Given the description of an element on the screen output the (x, y) to click on. 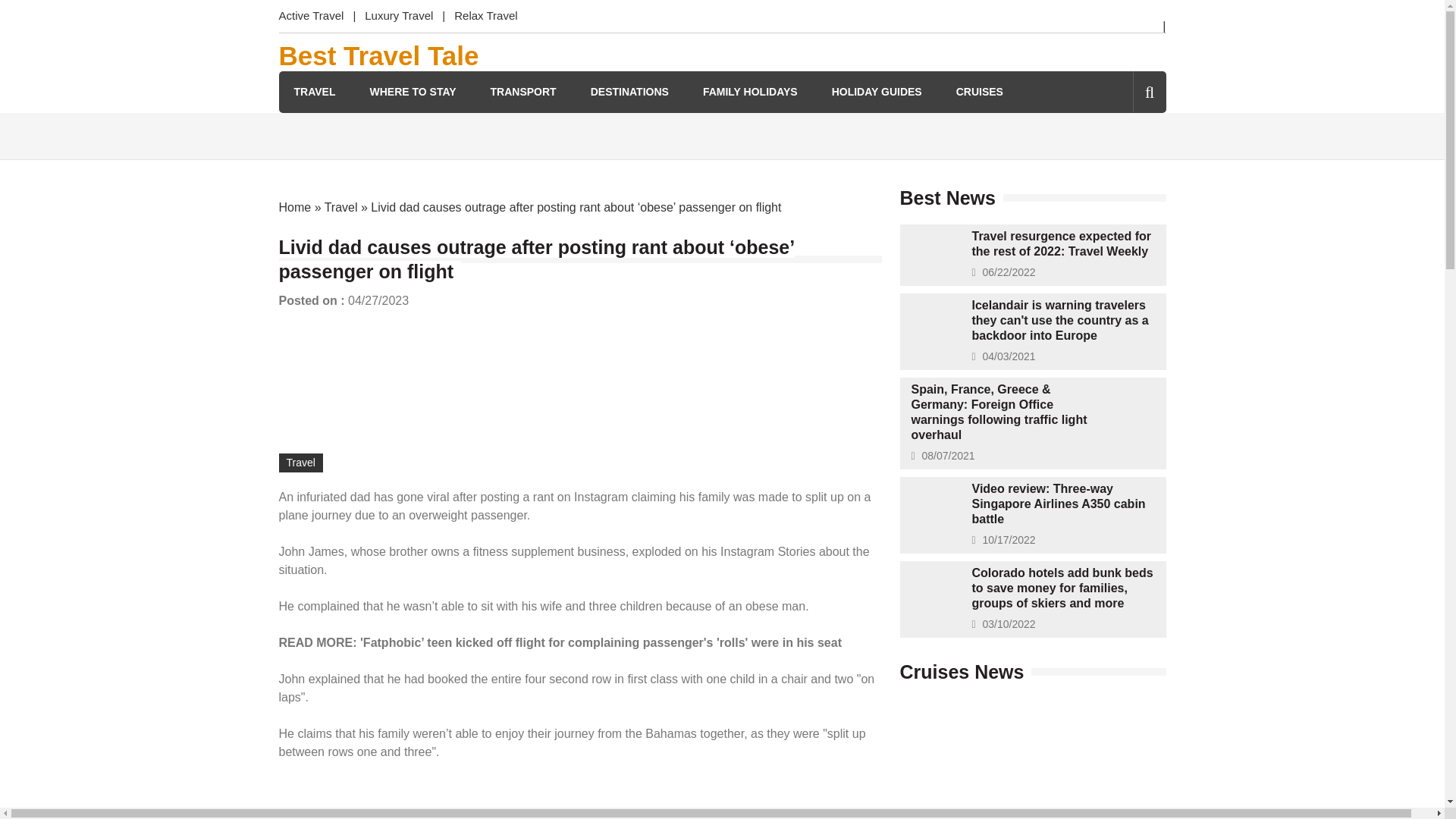
FAMILY HOLIDAYS (750, 92)
TRANSPORT (523, 92)
Relax Travel (485, 16)
DESTINATIONS (629, 92)
Best Travel Tale (379, 55)
Active Travel (316, 16)
HOLIDAY GUIDES (876, 92)
Luxury Travel (398, 16)
Search (1123, 156)
TRAVEL (315, 92)
